Given the description of an element on the screen output the (x, y) to click on. 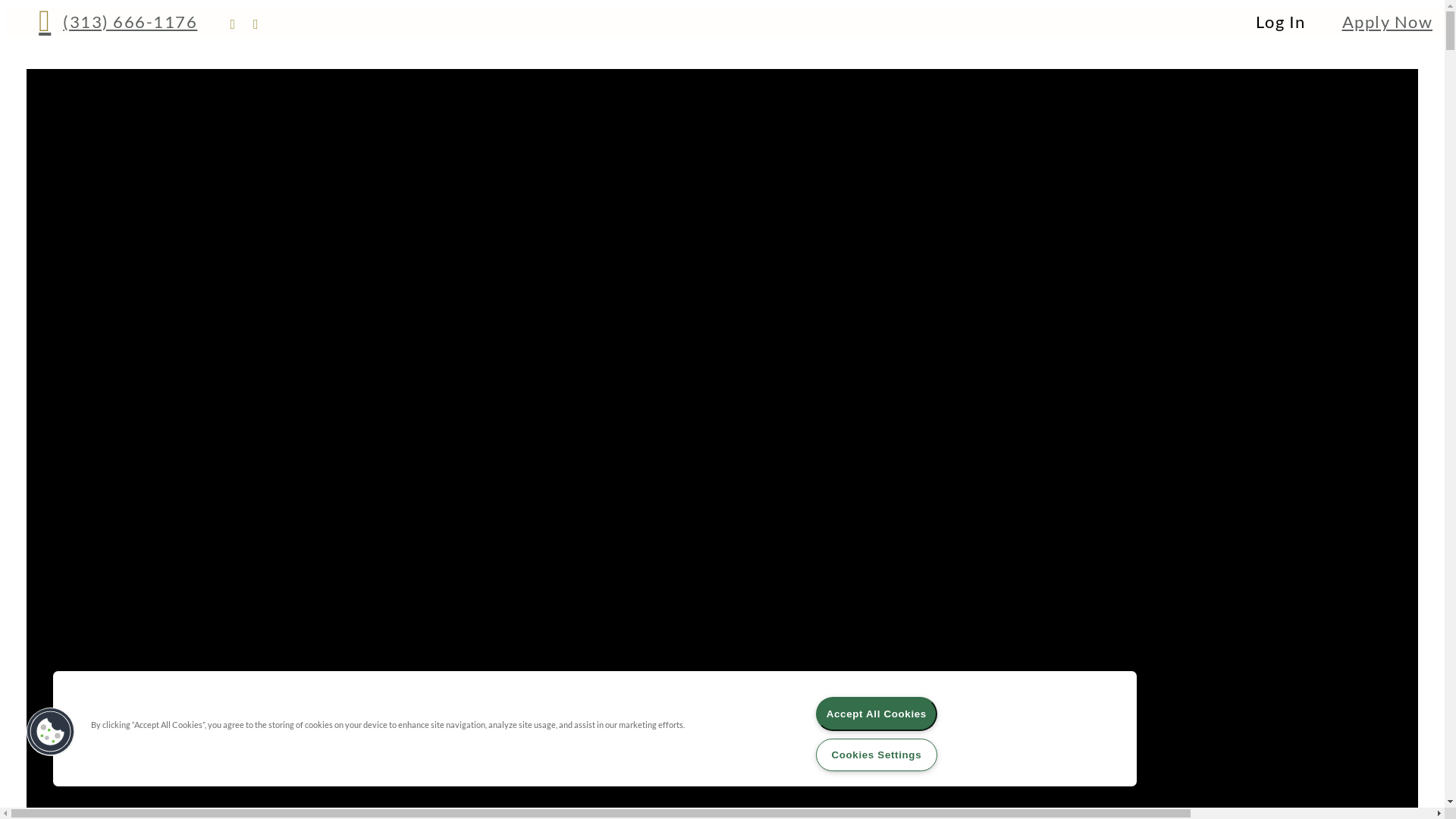
Apply Now Element type: text (1387, 20)
(313) 666-1176 Element type: text (117, 21)
Cookies Settings Element type: text (876, 754)
Log In Element type: text (1280, 20)
Cookies Button Element type: text (50, 731)
Accept All Cookies Element type: text (876, 713)
